Given the description of an element on the screen output the (x, y) to click on. 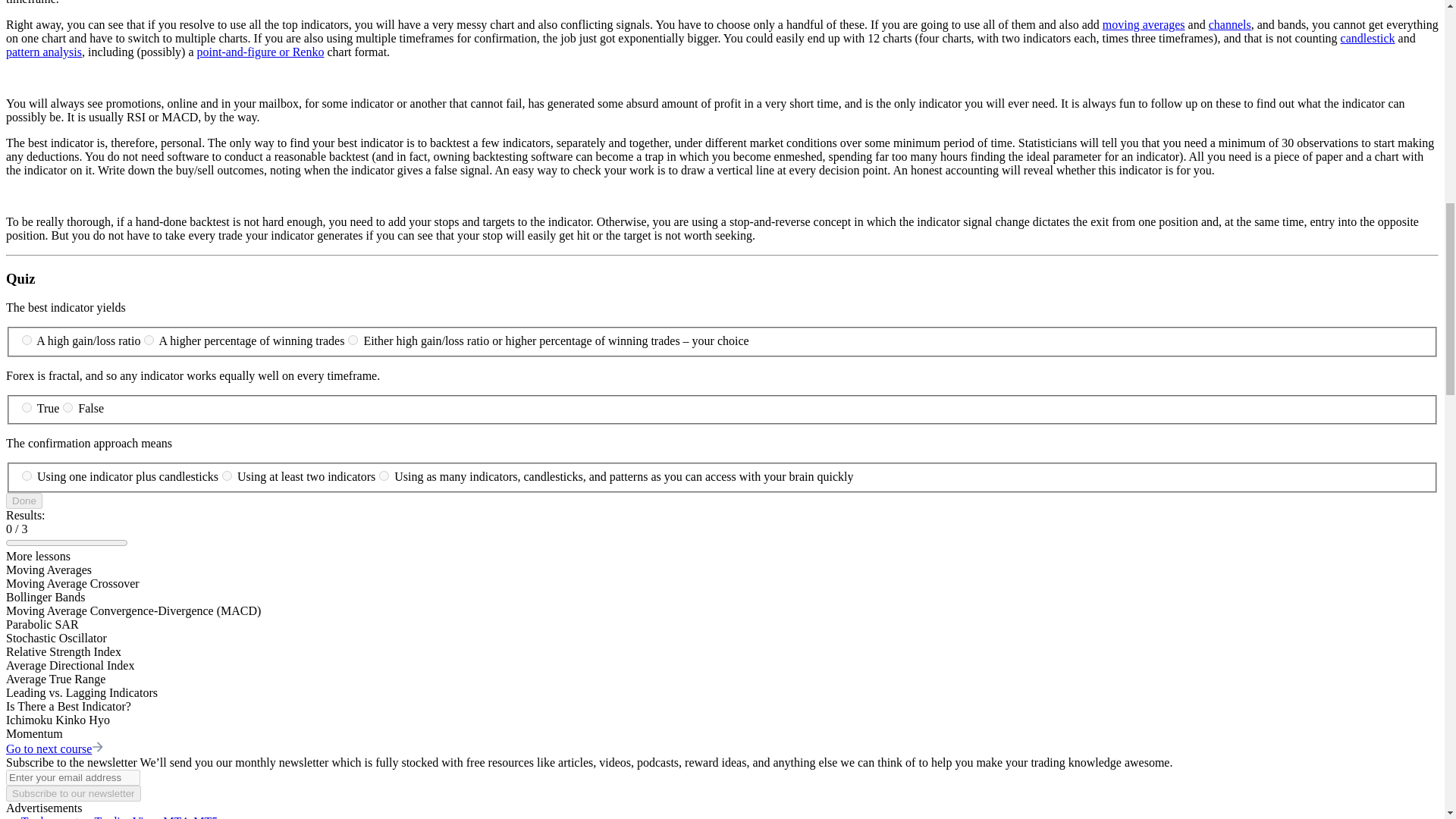
channels (1229, 24)
358 (352, 339)
Subscribe to our newsletter (73, 793)
361 (26, 475)
moving averages (1143, 24)
363 (383, 475)
357 (149, 339)
pattern analysis (43, 51)
356 (26, 339)
362 (226, 475)
359 (26, 407)
Trade smarter: TradingView, MT4, MT5. (121, 816)
Go to next course (54, 748)
candlestick (1367, 38)
360 (67, 407)
